Given the description of an element on the screen output the (x, y) to click on. 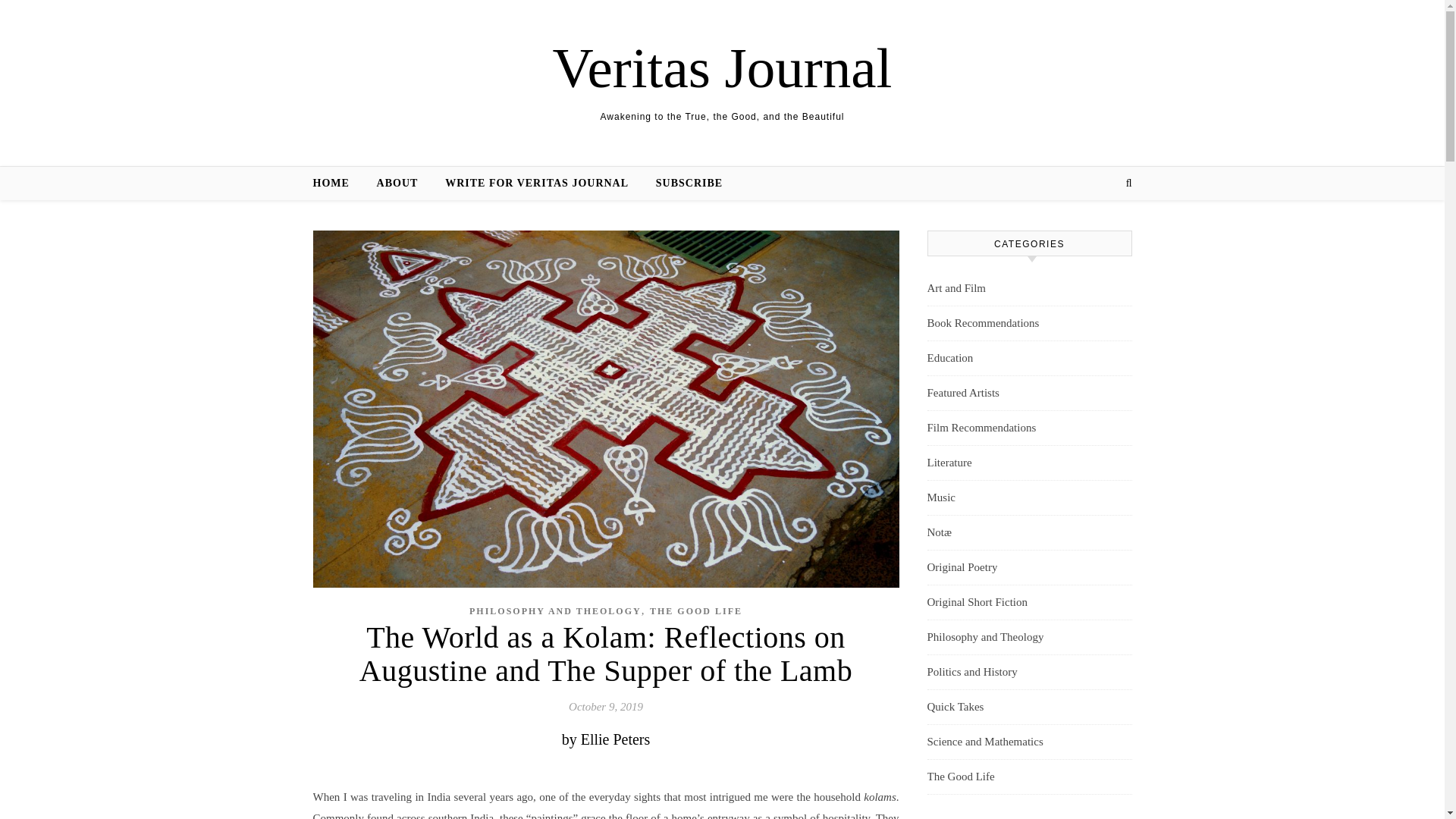
ABOUT (397, 183)
SUBSCRIBE (682, 183)
THE GOOD LIFE (695, 611)
HOME (337, 183)
Featured Artists (962, 392)
PHILOSOPHY AND THEOLOGY (555, 611)
Veritas Journal (722, 67)
Education (949, 358)
Art and Film (955, 288)
WRITE FOR VERITAS JOURNAL (536, 183)
Book Recommendations (982, 323)
